Given the description of an element on the screen output the (x, y) to click on. 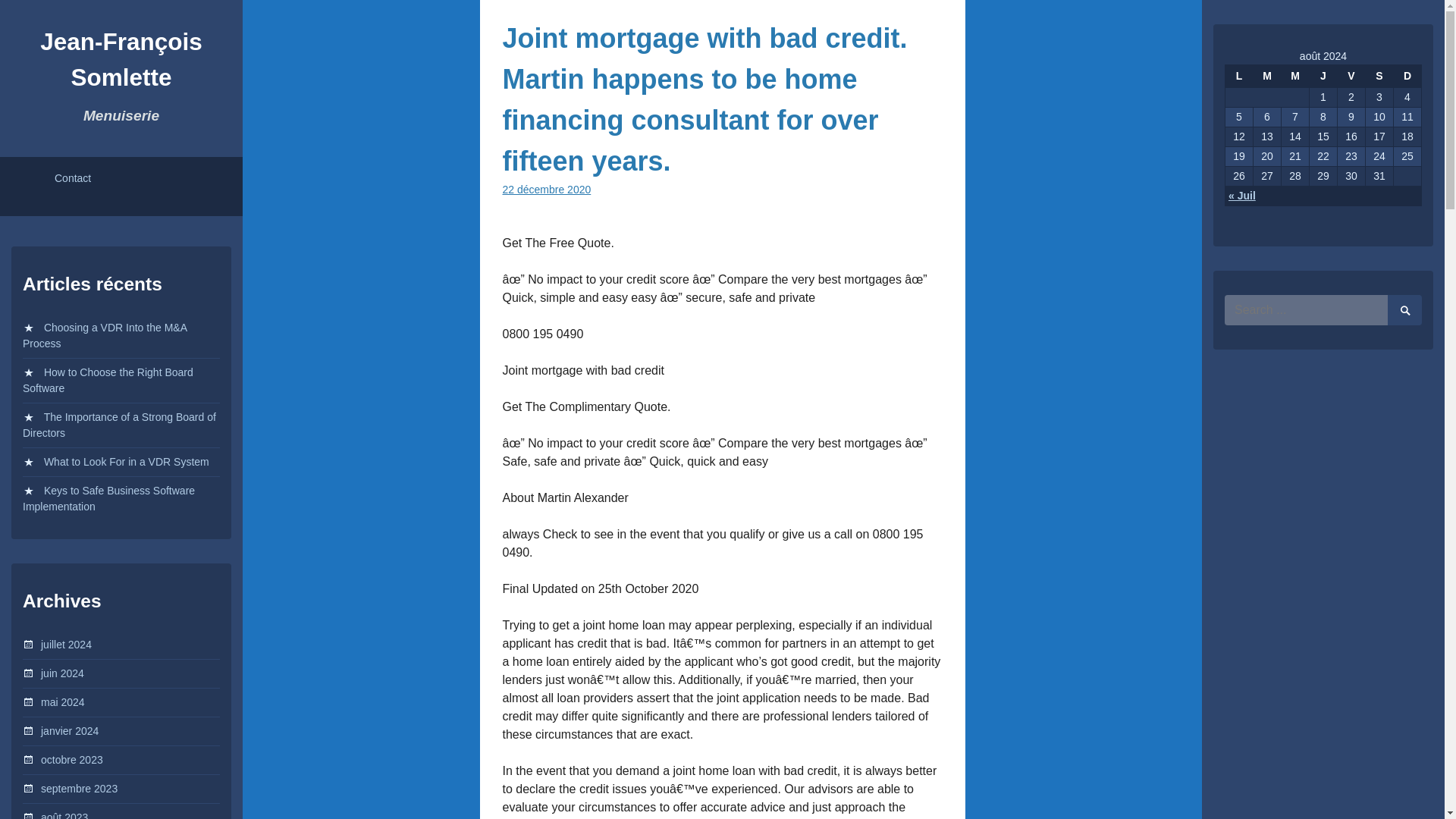
The Importance of a Strong Board of Directors (119, 424)
juillet 2024 (65, 644)
What to Look For in a VDR System (126, 461)
septembre 2023 (78, 788)
mardi (1266, 76)
lundi (1239, 76)
dimanche (1407, 76)
juin 2024 (62, 673)
mai 2024 (62, 702)
vendredi (1351, 76)
samedi (1379, 76)
How to Choose the Right Board Software (108, 379)
mercredi (1294, 76)
Keys to Safe Business Software Implementation (109, 498)
